Given the description of an element on the screen output the (x, y) to click on. 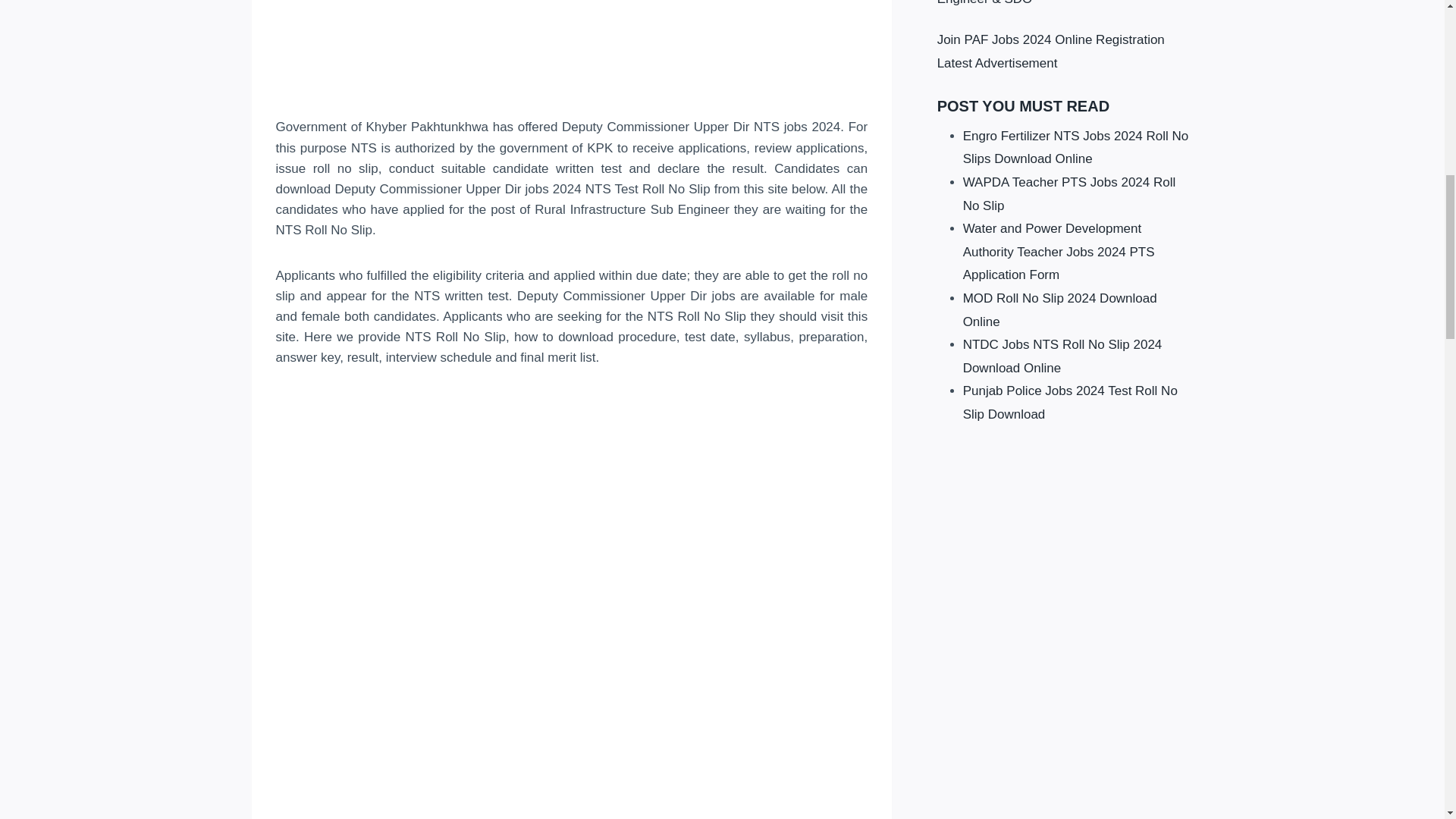
Advertisement (571, 54)
